Given the description of an element on the screen output the (x, y) to click on. 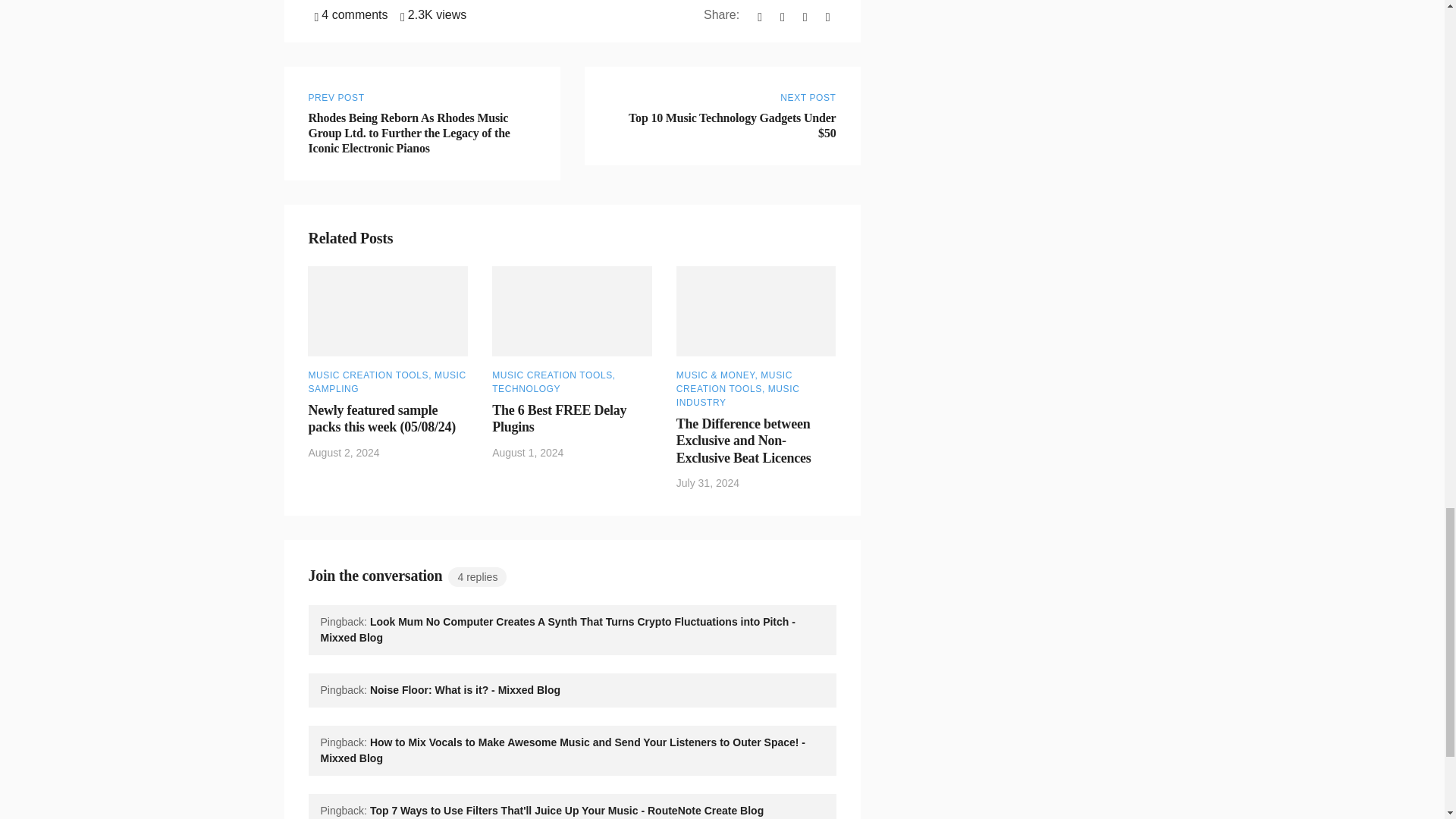
4 comments (350, 14)
